Given the description of an element on the screen output the (x, y) to click on. 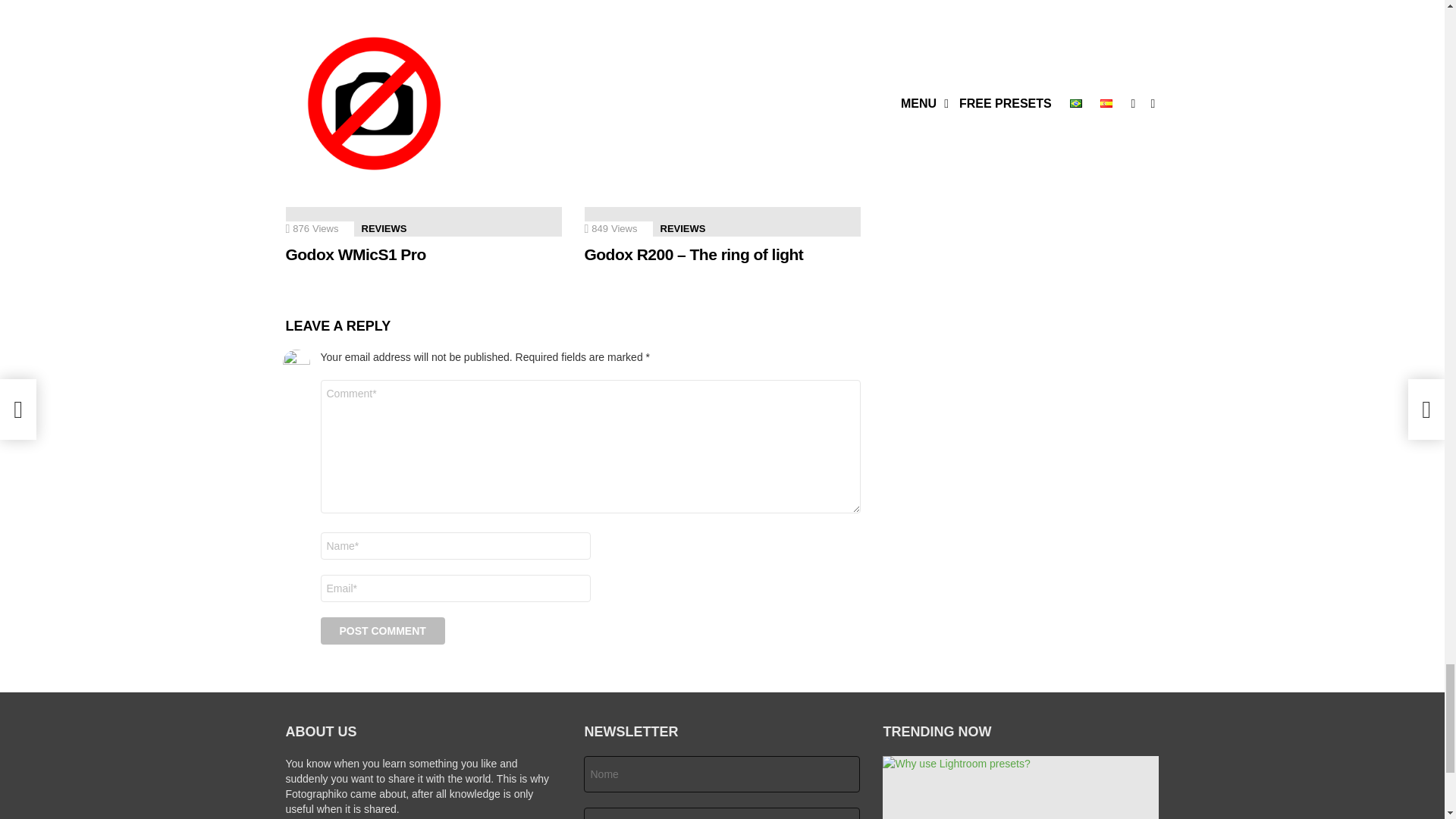
Godox WMicS1 Pro (422, 158)
Why use Lightroom presets? (1020, 787)
Post Comment (382, 630)
Why use Lightroom presets? (422, 15)
